Given the description of an element on the screen output the (x, y) to click on. 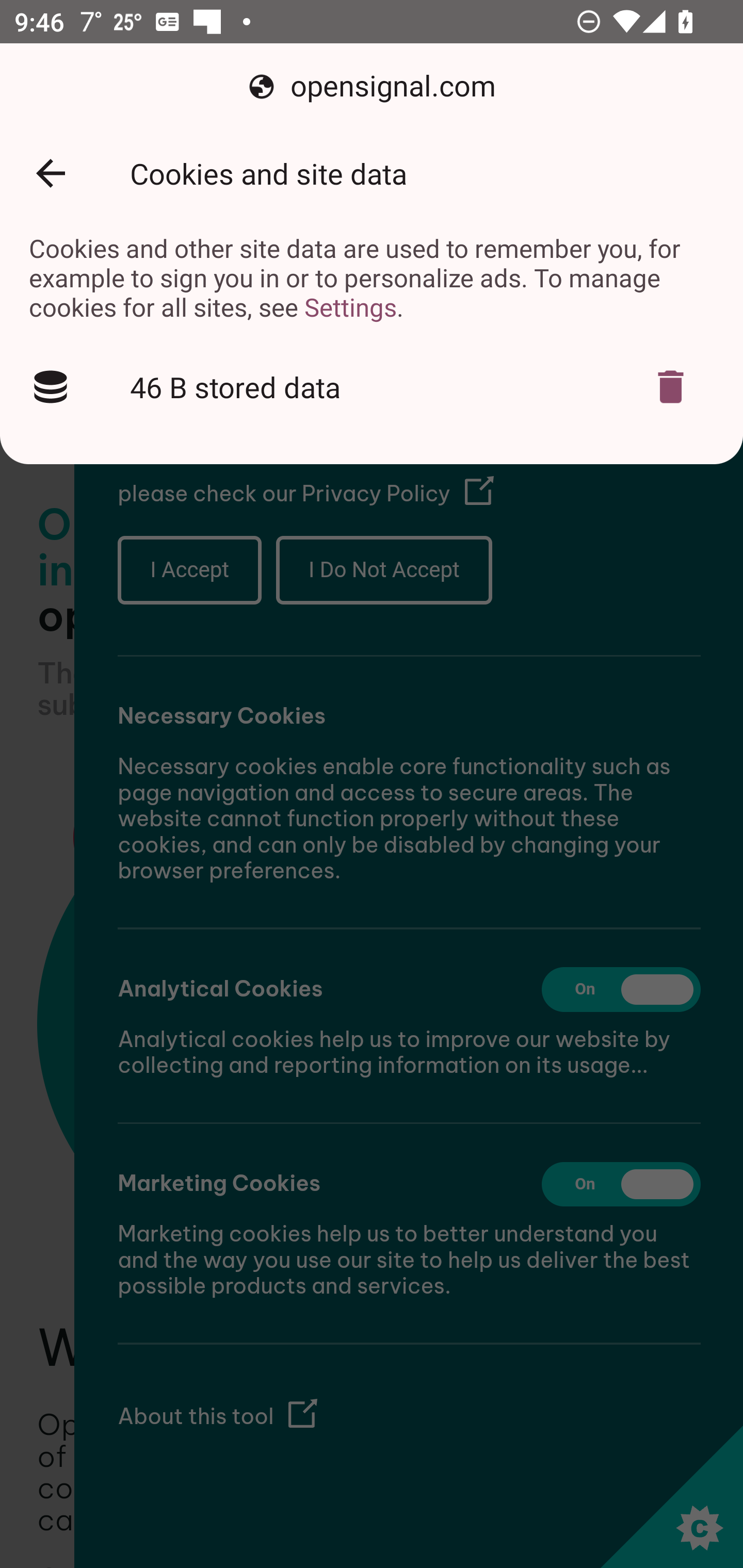
opensignal.com (371, 86)
Back (50, 173)
46 B stored data Delete cookies? (371, 386)
